Given the description of an element on the screen output the (x, y) to click on. 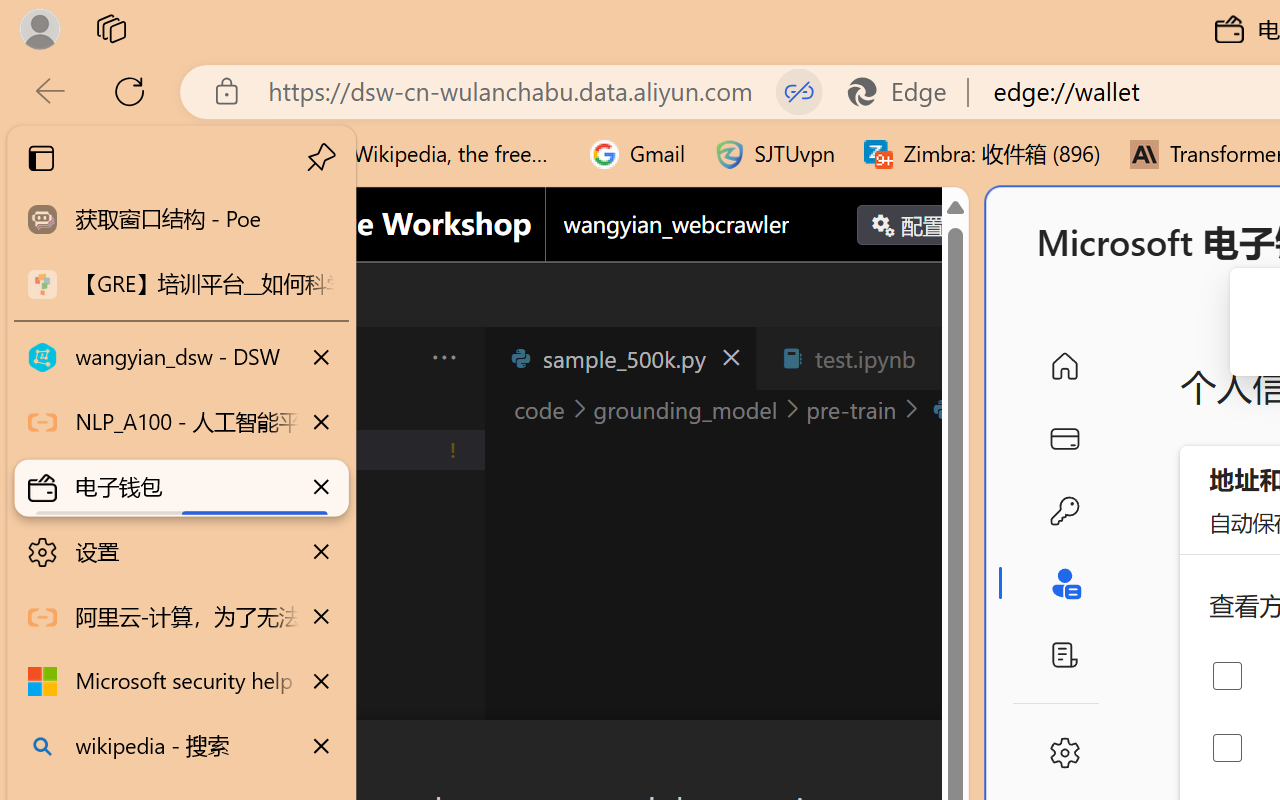
Run and Debug (Ctrl+Shift+D) (135, 692)
